Given the description of an element on the screen output the (x, y) to click on. 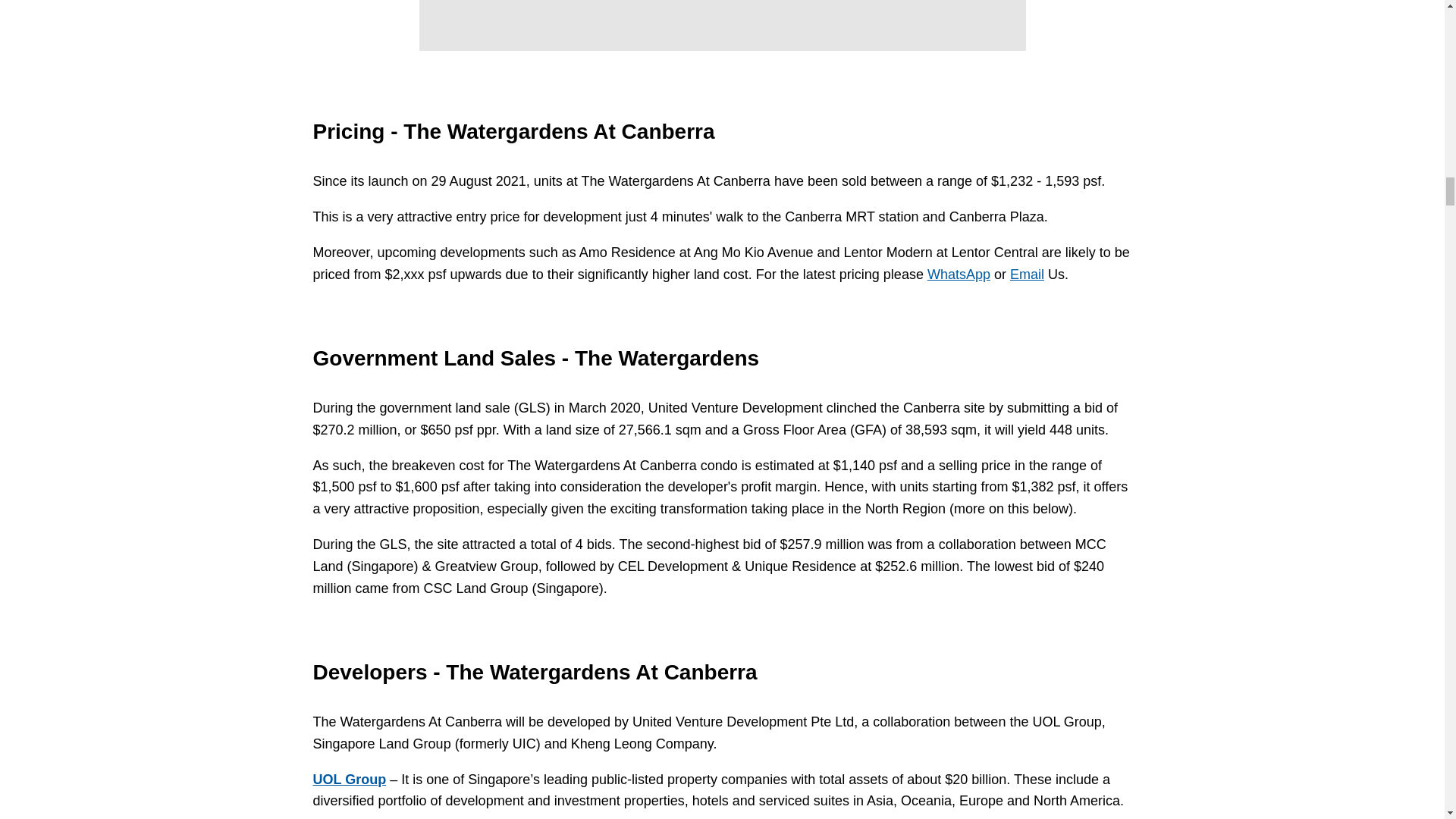
Email Us (1026, 273)
WhatsApp Us (958, 273)
The Watergardens At Canberra Factsheet (722, 25)
UOL Group (349, 779)
